Given the description of an element on the screen output the (x, y) to click on. 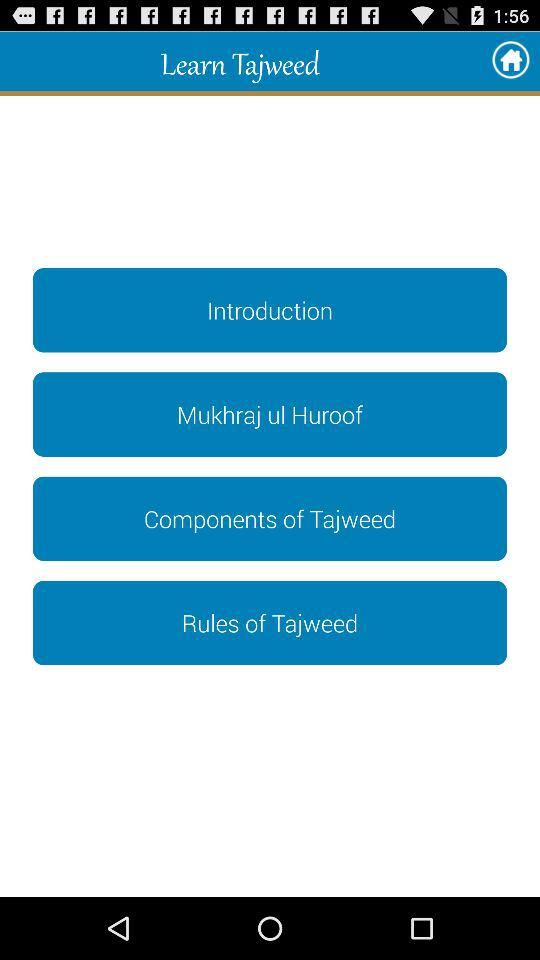
open item at the top right corner (510, 60)
